Given the description of an element on the screen output the (x, y) to click on. 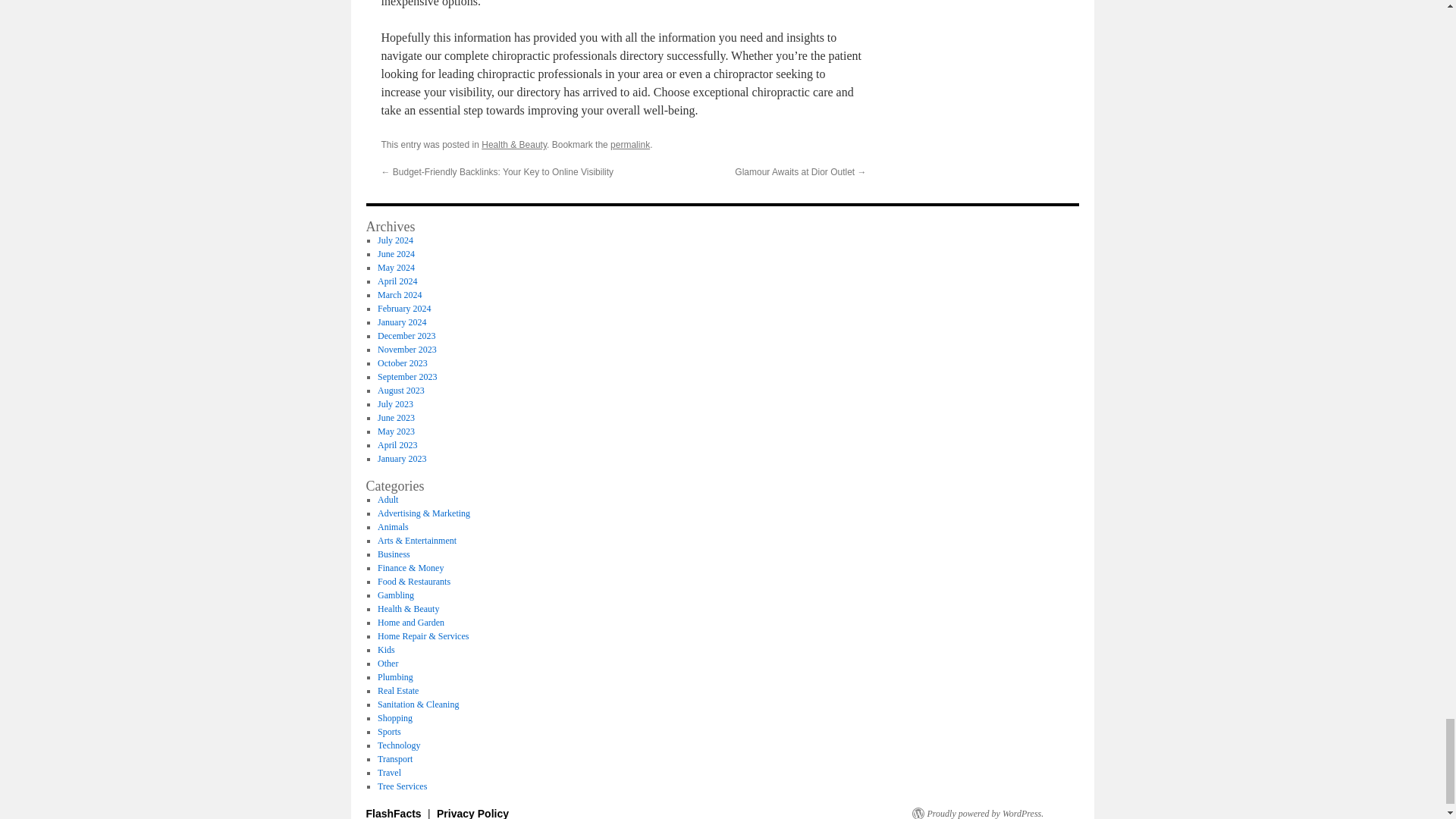
January 2023 (401, 458)
July 2024 (395, 240)
April 2024 (396, 281)
November 2023 (406, 348)
December 2023 (406, 335)
January 2024 (401, 321)
May 2023 (395, 430)
permalink (629, 144)
Animals (393, 526)
August 2023 (401, 389)
March 2024 (399, 294)
July 2023 (395, 403)
June 2024 (395, 253)
May 2024 (395, 267)
